Given the description of an element on the screen output the (x, y) to click on. 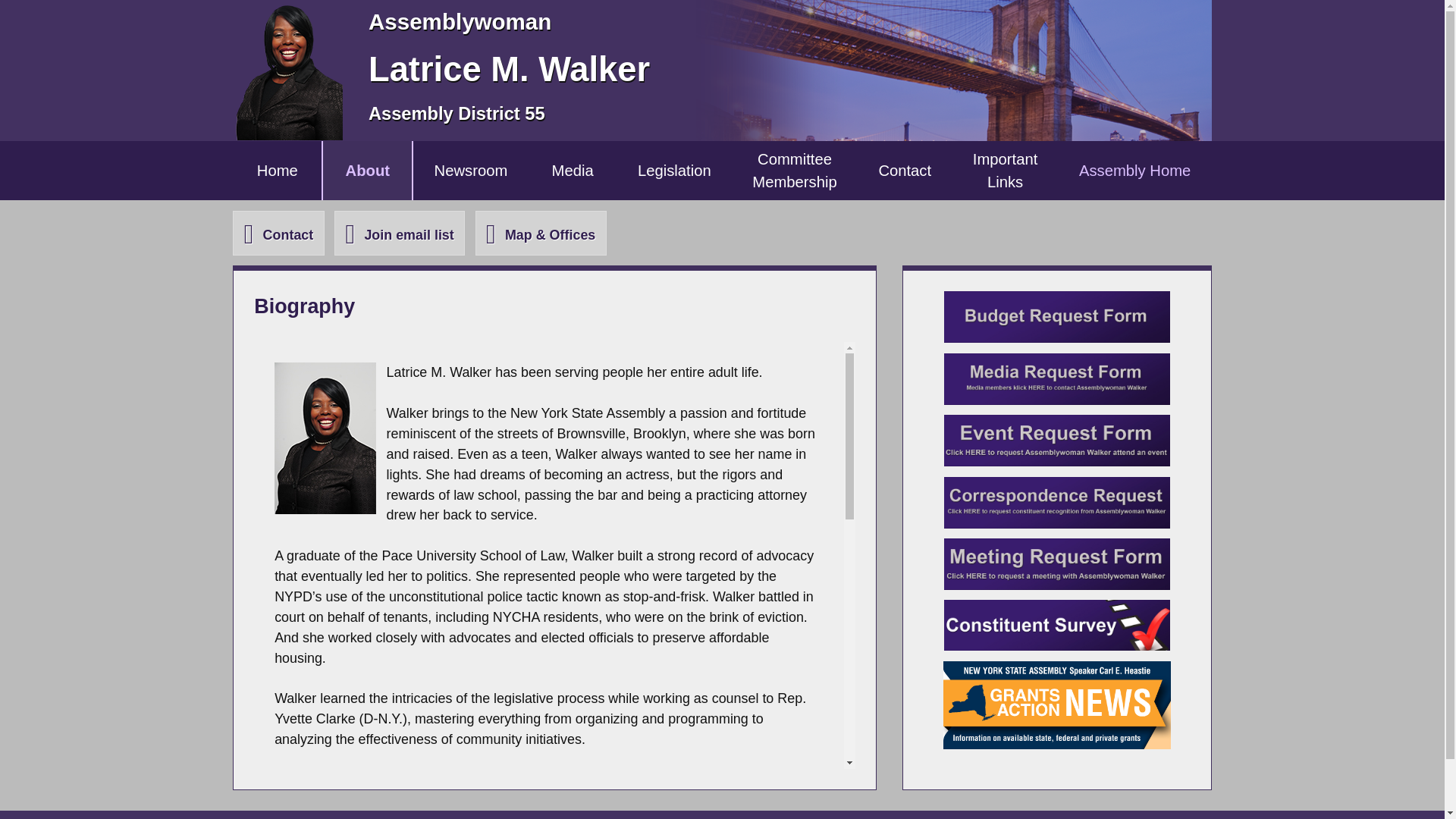
Meeting Request Form (1005, 169)
Legislation (1056, 563)
Newsroom (674, 169)
Join email list (470, 169)
Assembly Home (399, 232)
Home (1134, 169)
GAN (276, 169)
Media (1056, 704)
Budget Request Form (572, 169)
Correspondence Request Form (1056, 317)
Assemblywoman  Latrice M. Walker (1056, 502)
About (325, 438)
Media Request Form (367, 169)
Contact (1056, 378)
